Given the description of an element on the screen output the (x, y) to click on. 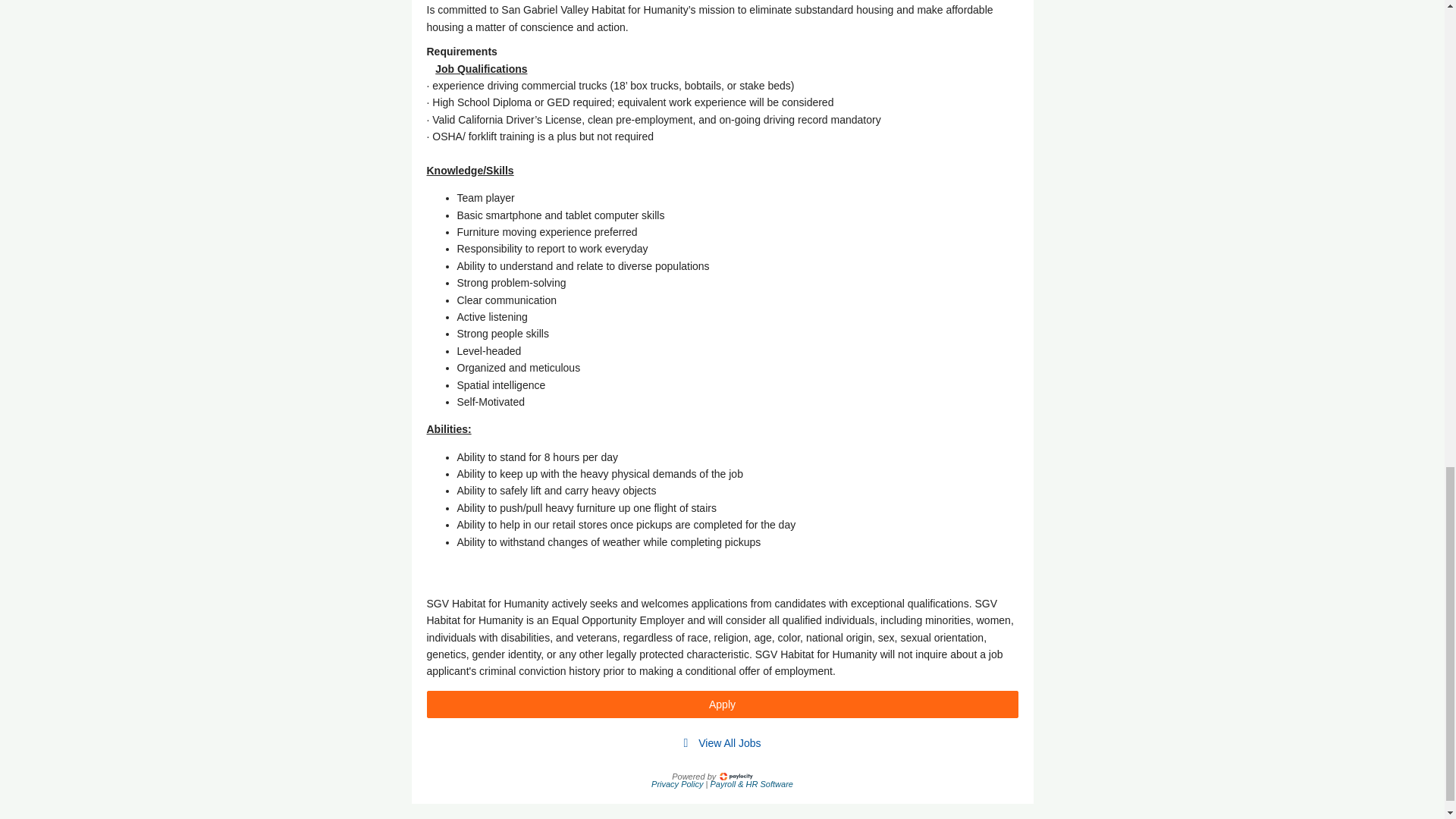
Privacy Policy link - will open in new window (678, 783)
View All Jobs (729, 743)
Privacy Policy (678, 783)
Apply (721, 704)
